Given the description of an element on the screen output the (x, y) to click on. 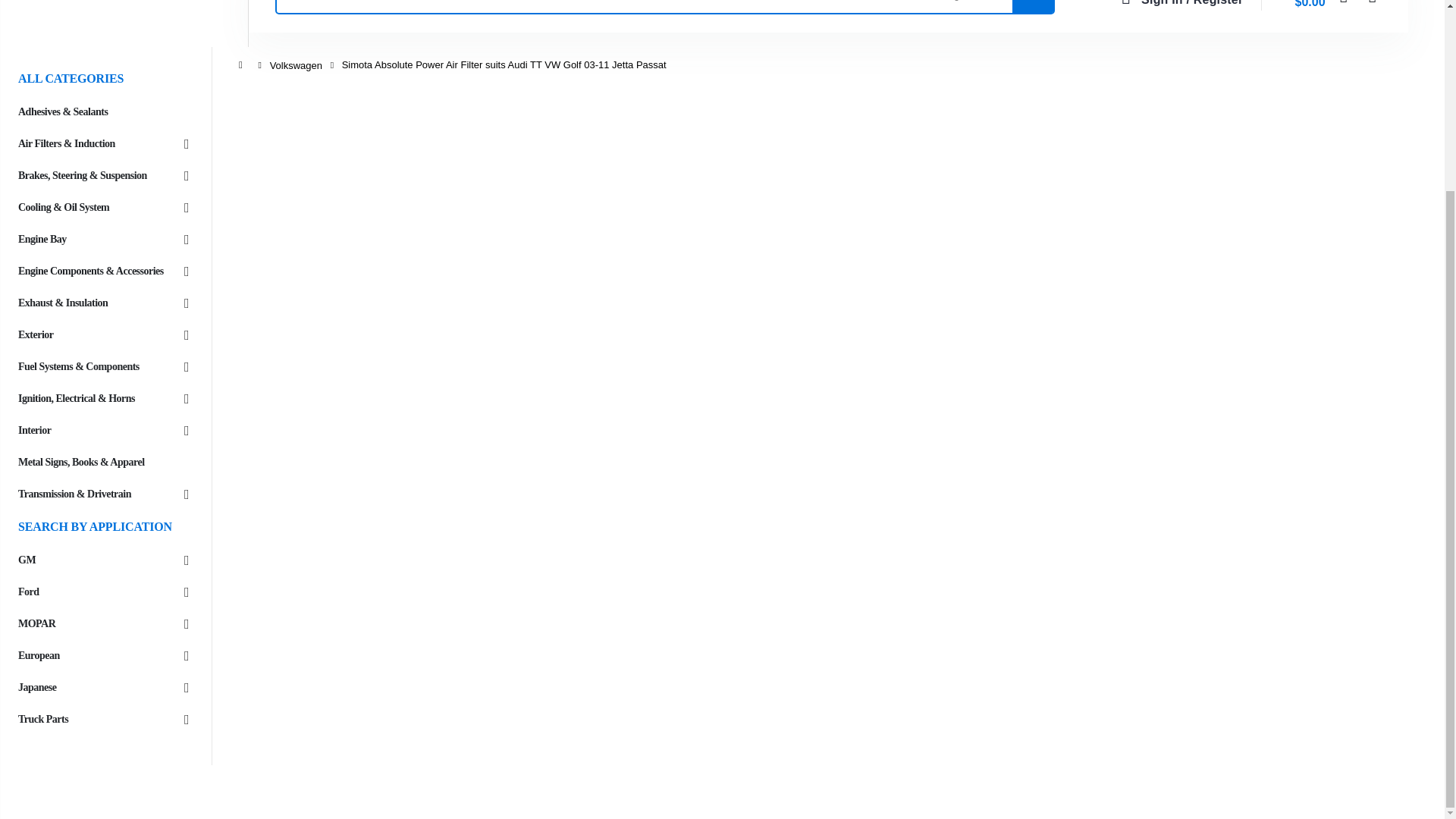
All Categories (954, 6)
My account (1177, 4)
All Categories (954, 6)
